Given the description of an element on the screen output the (x, y) to click on. 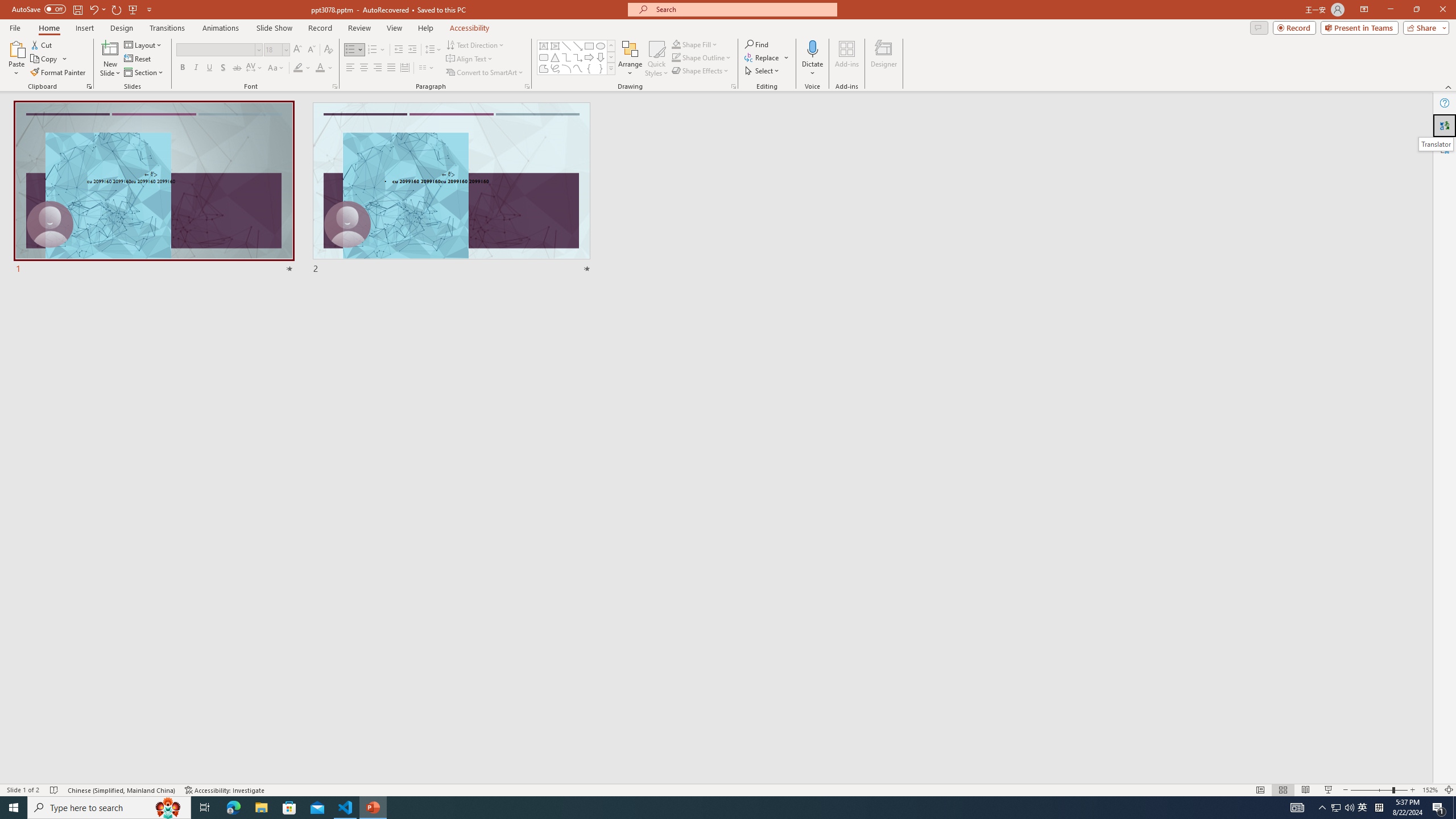
Copy (49, 58)
Left Brace (589, 68)
Class: NetUIImage (610, 68)
Zoom (1379, 790)
Underline (209, 67)
Class: MsoCommandBar (728, 789)
Isosceles Triangle (554, 57)
Center (363, 67)
Designer (883, 58)
Shape Fill Dark Green, Accent 2 (675, 44)
Quick Styles (656, 58)
Line (566, 45)
Dictate (812, 58)
Shadow (223, 67)
